Given the description of an element on the screen output the (x, y) to click on. 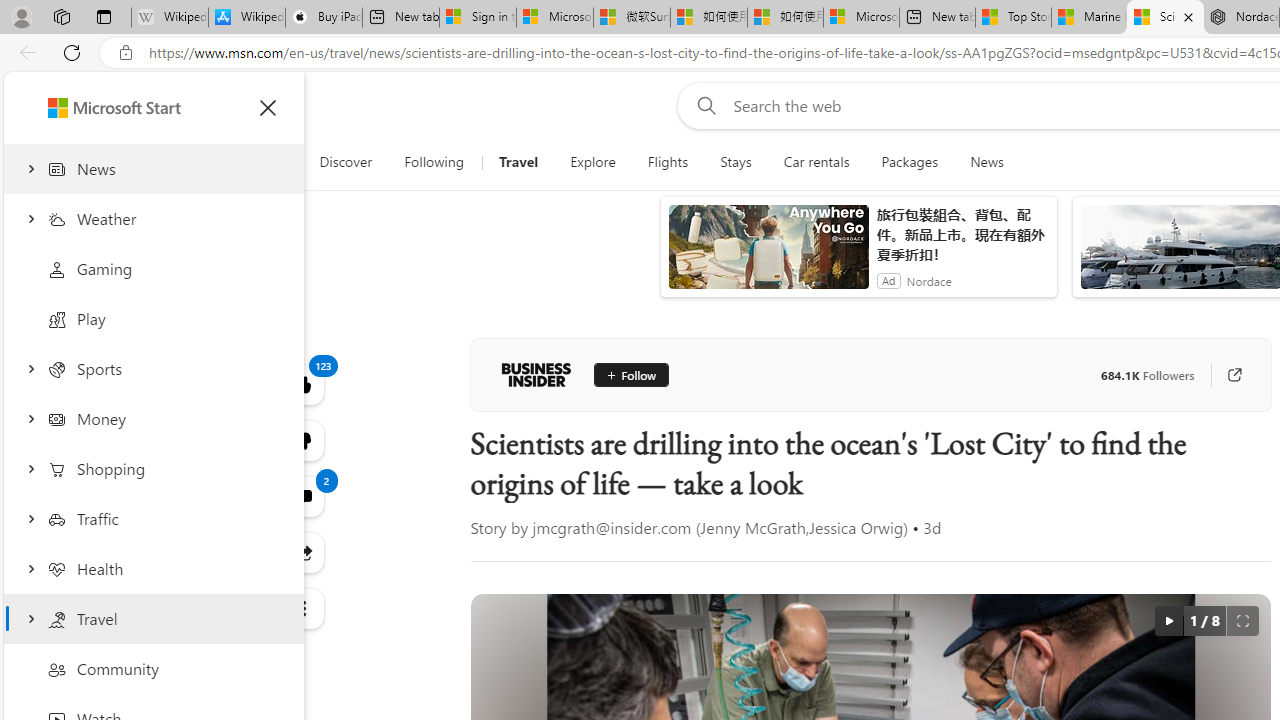
View comments 2 Comment (302, 496)
Explore (593, 162)
